Given the description of an element on the screen output the (x, y) to click on. 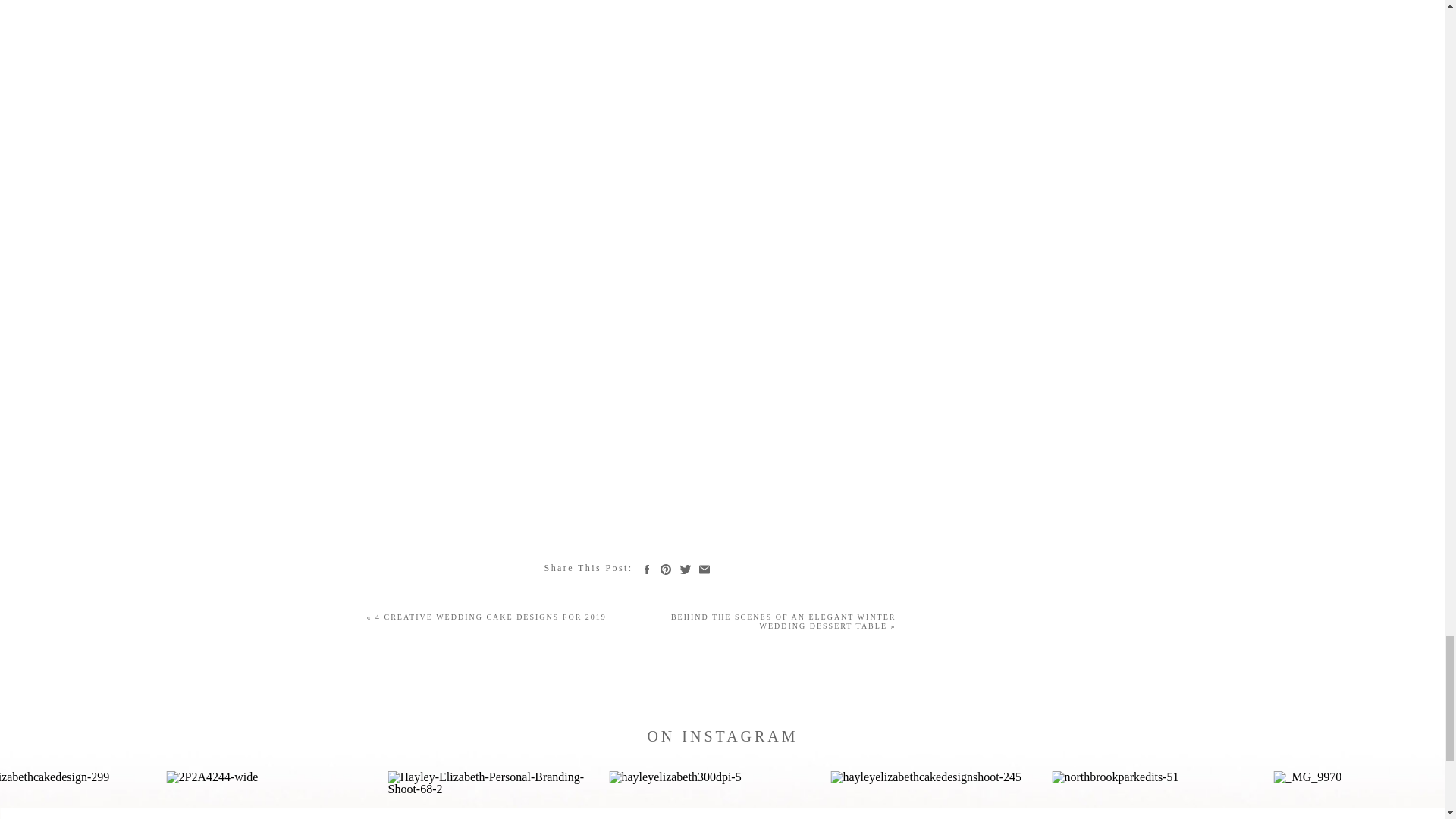
Hayley-Elizabeth-Personal-Branding-Shoot-68-2 (496, 795)
northbrookparkedits-51 (1160, 795)
2P2A4244-wide (274, 795)
BEHIND THE SCENES OF AN ELEGANT WINTER WEDDING DESSERT TABLE (783, 620)
4 CREATIVE WEDDING CAKE DESIGNS FOR 2019 (491, 616)
hayleyelizabeth300dpi-5 (717, 795)
hayleyelizabethcakedesign-299 (80, 795)
hayleyelizabethcakedesignshoot-245 (938, 795)
